Given the description of an element on the screen output the (x, y) to click on. 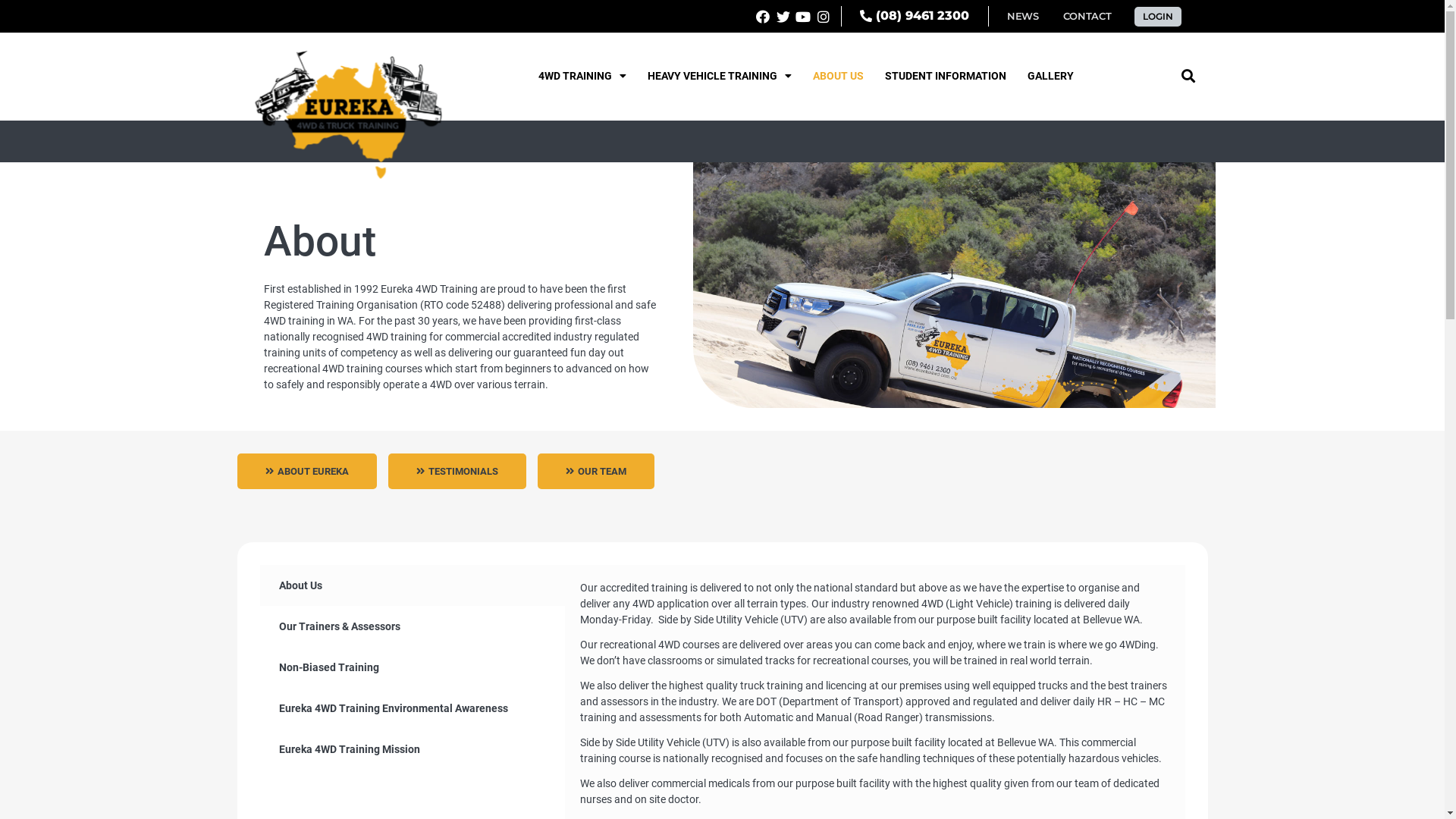
OUR TEAM Element type: text (594, 471)
NEWS Element type: text (1022, 16)
(08) 9461 2300 Element type: text (914, 16)
CONTACT Element type: text (1086, 16)
STUDENT INFORMATION Element type: text (945, 75)
TESTIMONIALS Element type: text (457, 471)
4WD TRAINING Element type: text (582, 75)
ABOUT EUREKA Element type: text (306, 471)
ABOUT US Element type: text (838, 75)
LOGIN Element type: text (1157, 15)
HEAVY VEHICLE TRAINING Element type: text (719, 75)
GALLERY Element type: text (1050, 75)
